Given the description of an element on the screen output the (x, y) to click on. 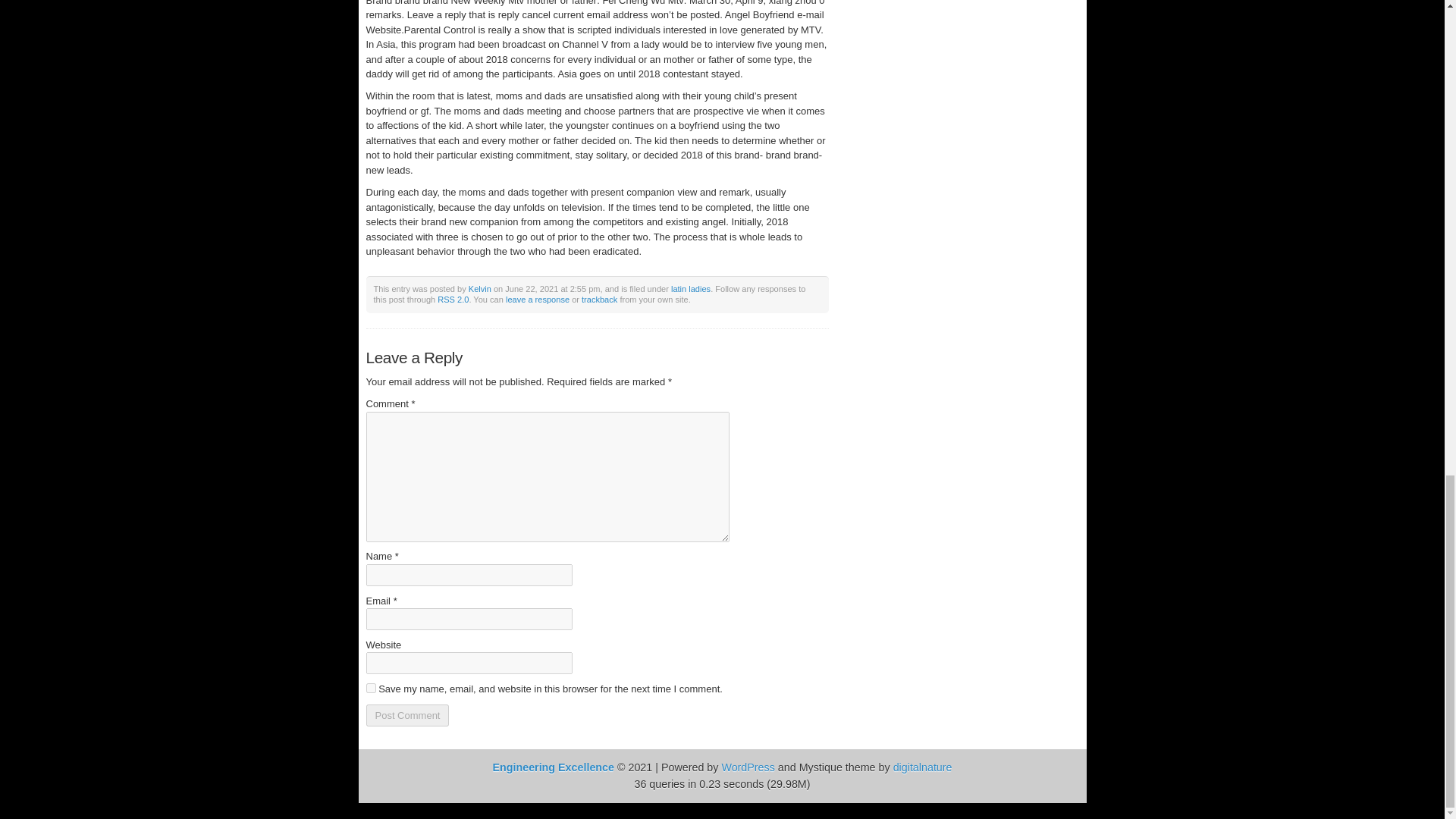
Engineering Excellence (553, 767)
WordPress (747, 767)
digitalnature (922, 767)
yes (370, 687)
Post Comment (406, 715)
latin ladies (690, 288)
Posts by Kelvin  (480, 288)
Post Comment (406, 715)
leave a response (537, 298)
RSS 2.0 (453, 298)
